Given the description of an element on the screen output the (x, y) to click on. 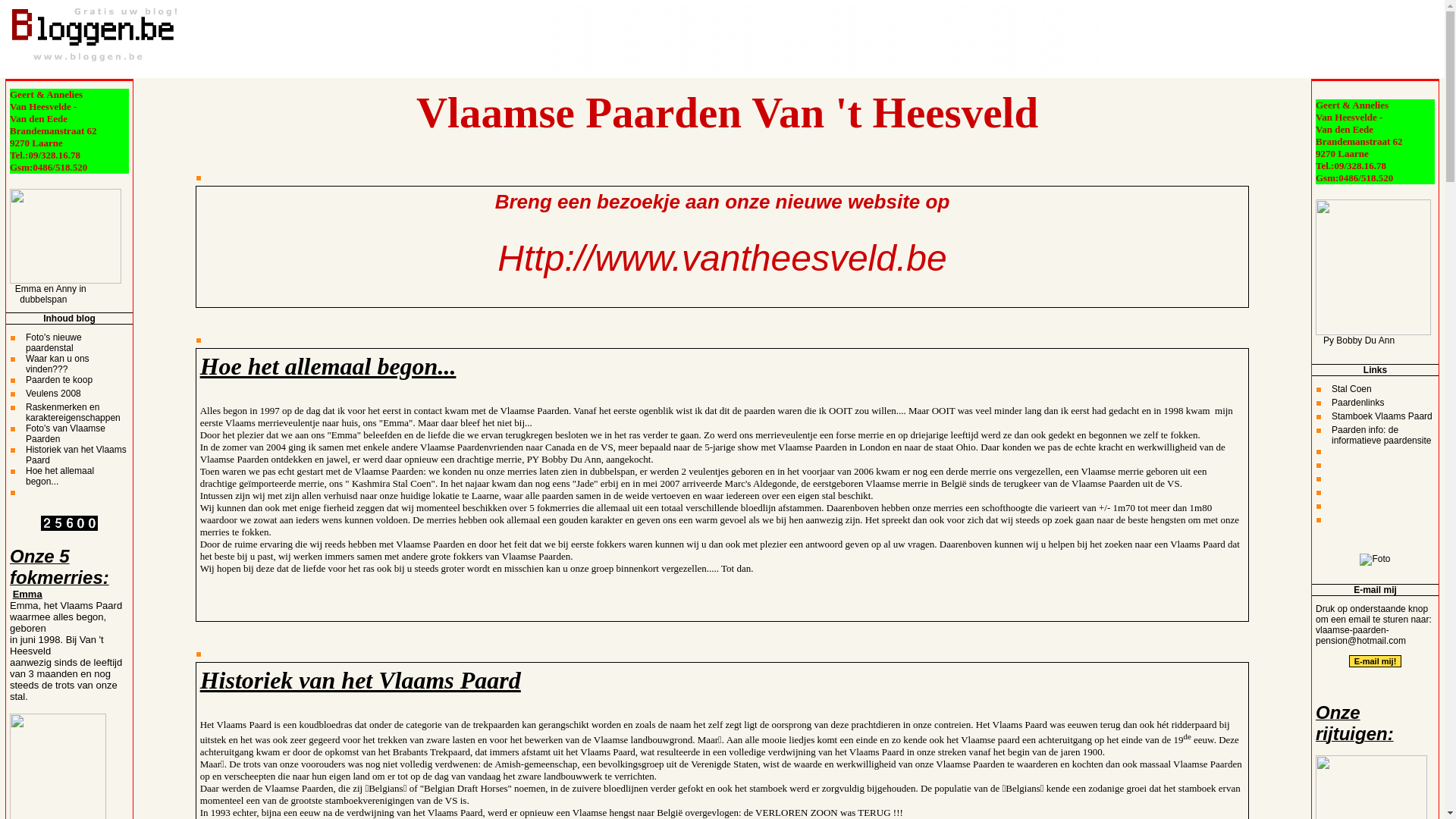
Waar kan u ons vinden??? Element type: text (57, 363)
Paarden te koop Element type: text (58, 379)
Hoe het allemaal begon... Element type: text (59, 475)
Http://www.vantheesveld.be Element type: text (721, 267)
Stamboek Vlaams Paard Element type: text (1381, 416)
Paarden info: de informatieve paardensite Element type: text (1380, 434)
Historiek van het Vlaams Paard Element type: text (75, 454)
E-mail mij! Element type: text (1375, 661)
Stal Coen Element type: text (1351, 388)
3rd party ad content Element type: hover (825, 37)
Foto's nieuwe paardenstal Element type: text (53, 342)
Veulens 2008 Element type: text (53, 393)
Raskenmerken en karaktereigenschappen Element type: text (72, 412)
Paardenlinks Element type: text (1357, 402)
Foto's van Vlaamse Paarden Element type: text (65, 433)
